Given the description of an element on the screen output the (x, y) to click on. 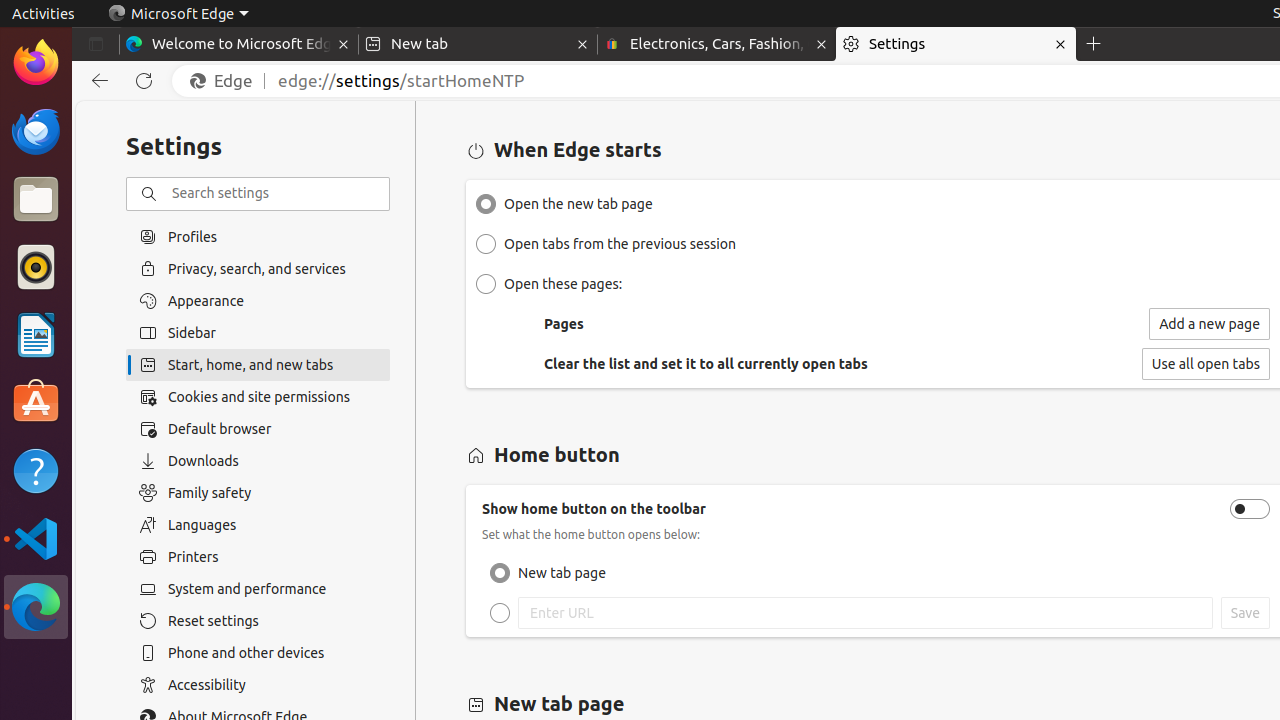
Edge Element type: push-button (226, 81)
Electronics, Cars, Fashion, Collectibles & More | eBay Element type: page-tab (717, 44)
Enter URL Element type: radio-button (500, 613)
Help Element type: push-button (36, 470)
Microsoft Edge Element type: menu (178, 13)
